Given the description of an element on the screen output the (x, y) to click on. 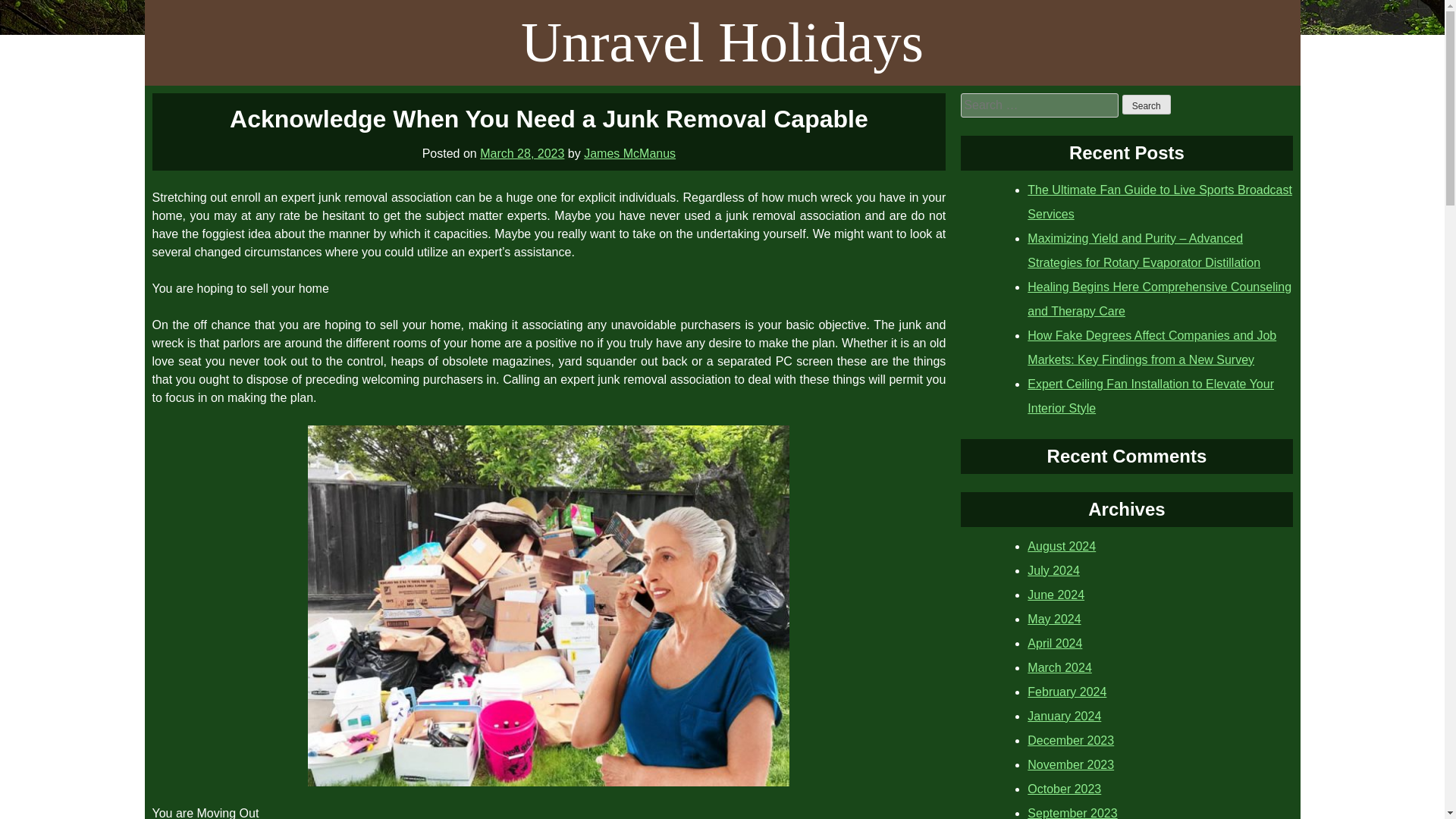
November 2023 (1070, 764)
April 2024 (1054, 643)
June 2024 (1055, 594)
Search (1146, 104)
September 2023 (1071, 812)
July 2024 (1053, 570)
May 2024 (1053, 618)
February 2024 (1066, 691)
Unravel Holidays (722, 41)
